Given the description of an element on the screen output the (x, y) to click on. 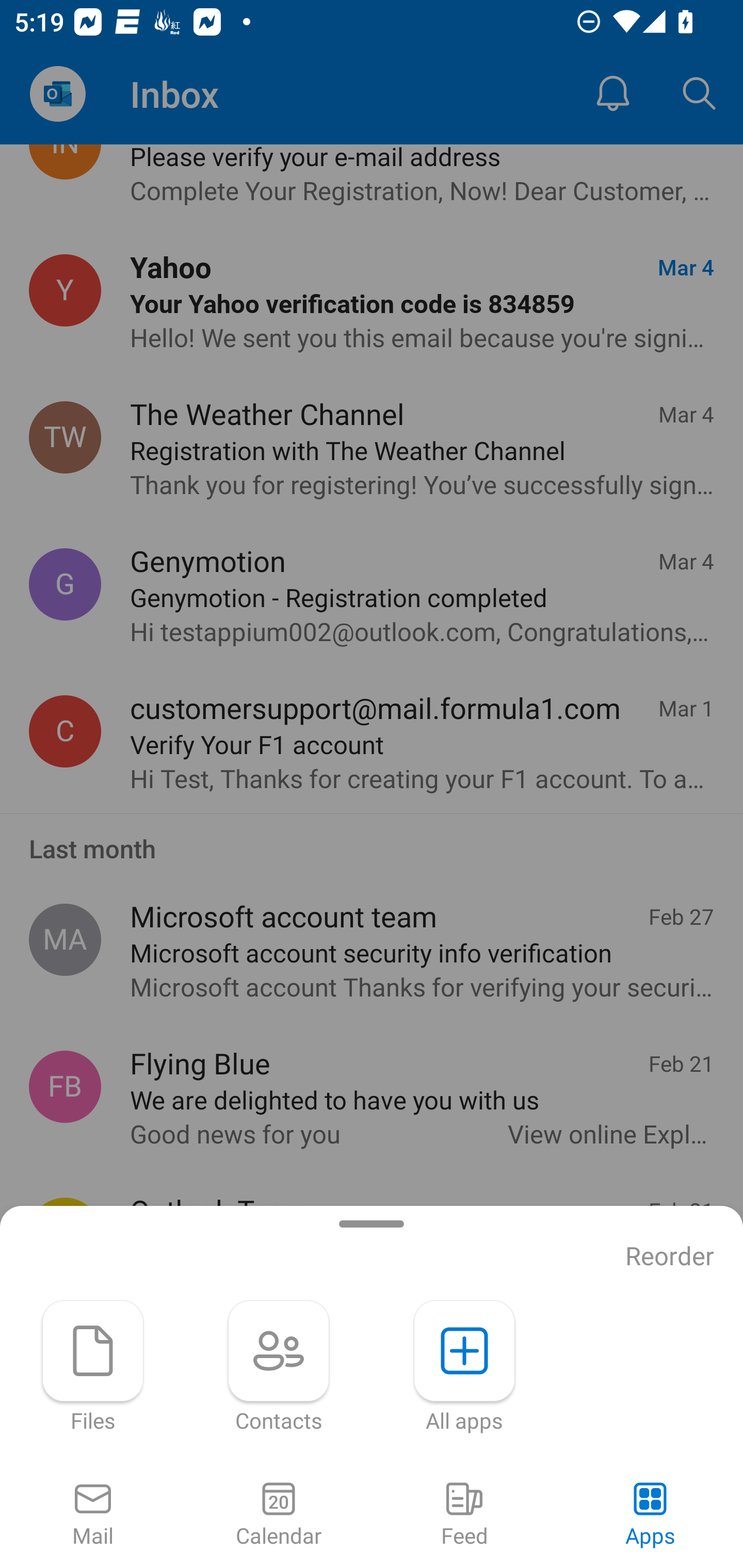
Reorder (669, 1256)
Files (92, 1366)
Contacts (278, 1366)
All apps (464, 1366)
Mail (92, 1515)
Calendar (278, 1515)
Feed (464, 1515)
